Given the description of an element on the screen output the (x, y) to click on. 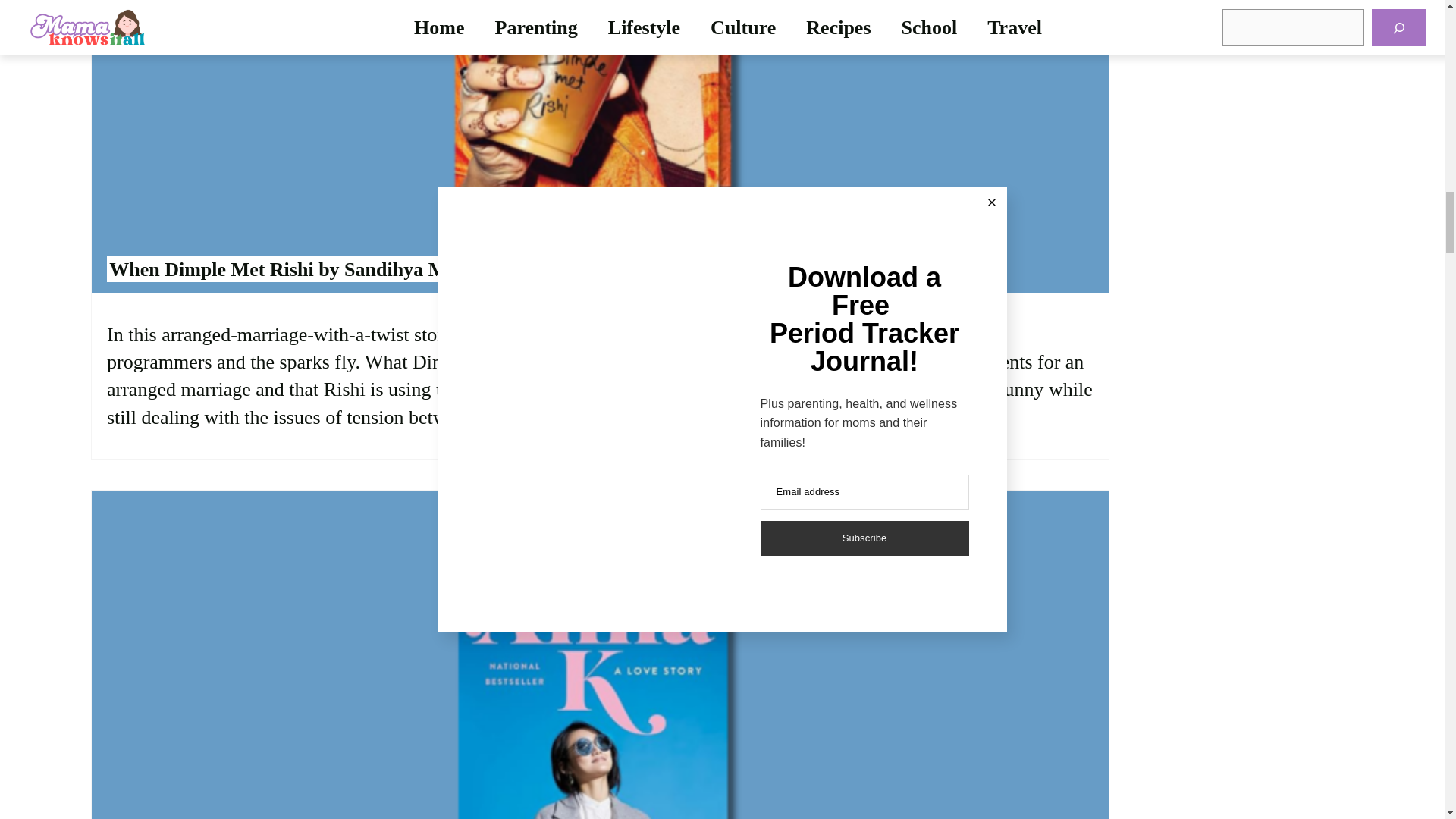
When Dimple Met Rishi by Sandihya Menon (297, 268)
